Given the description of an element on the screen output the (x, y) to click on. 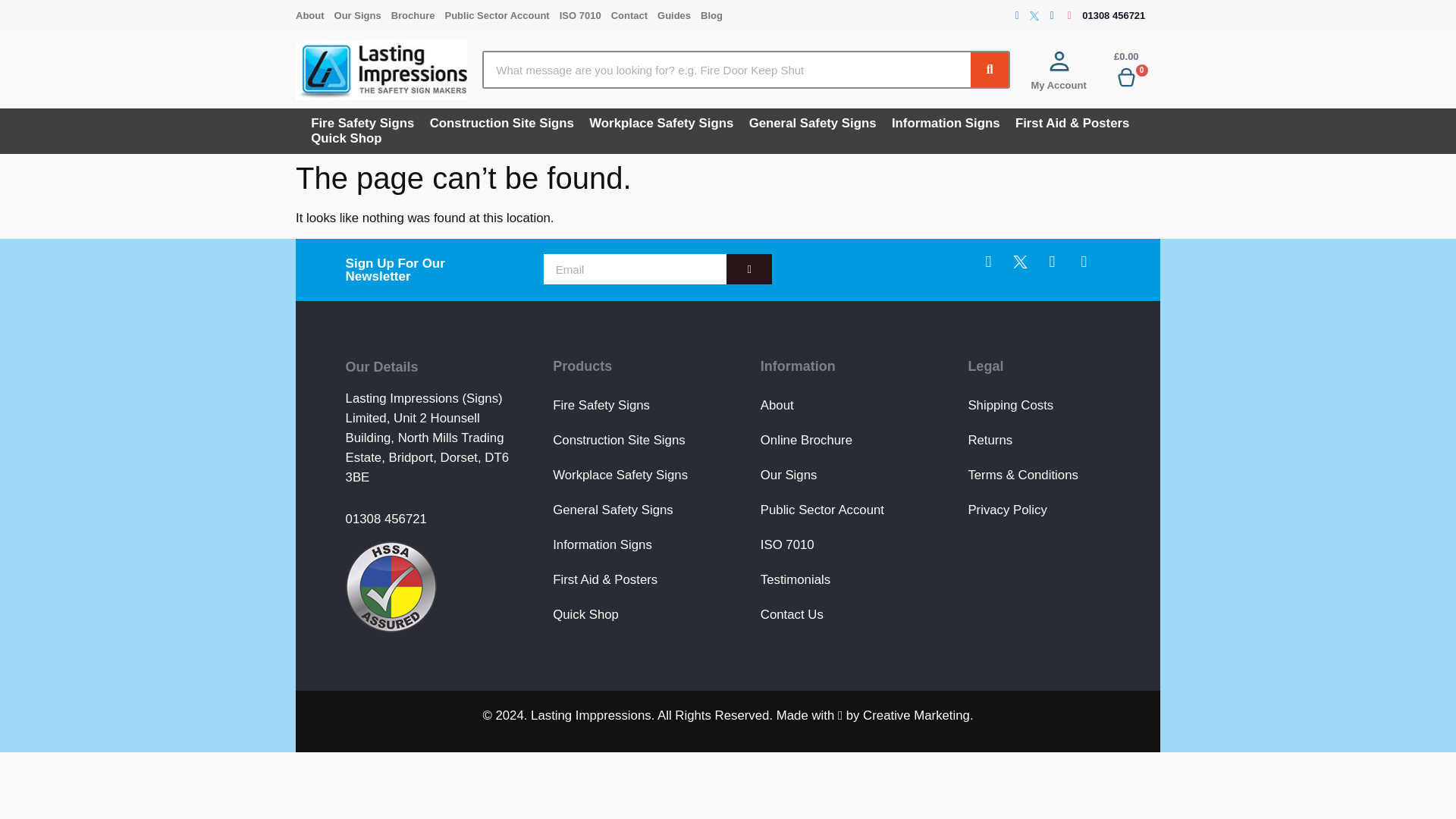
Information Signs (945, 123)
About (314, 15)
01308 456721 (1112, 15)
ISO 7010 (585, 15)
My Account (1058, 84)
Workplace Safety Signs (660, 123)
Brochure (418, 15)
Our Signs (362, 15)
Contact (634, 15)
Fire Safety Signs (362, 123)
